Given the description of an element on the screen output the (x, y) to click on. 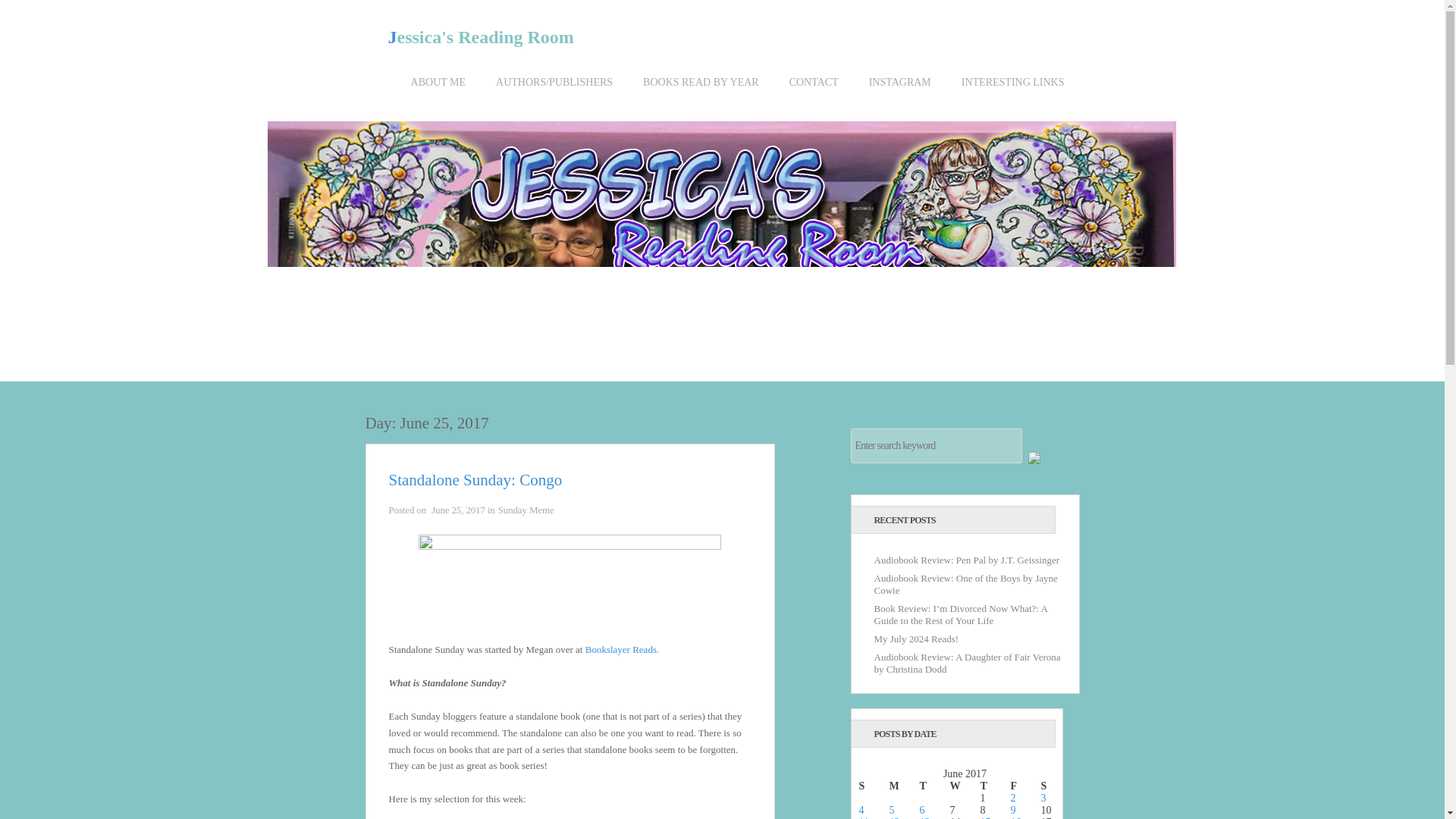
Tuesday (933, 786)
ABOUT ME (438, 93)
Friday (1025, 786)
Bookslayer Reads. (622, 649)
My July 2024 Reads! (915, 638)
Audiobook Review: One of the Boys by Jayne Cowie (965, 584)
Standalone Sunday: Congo (457, 509)
INSTAGRAM (899, 93)
Wednesday (964, 786)
